Given the description of an element on the screen output the (x, y) to click on. 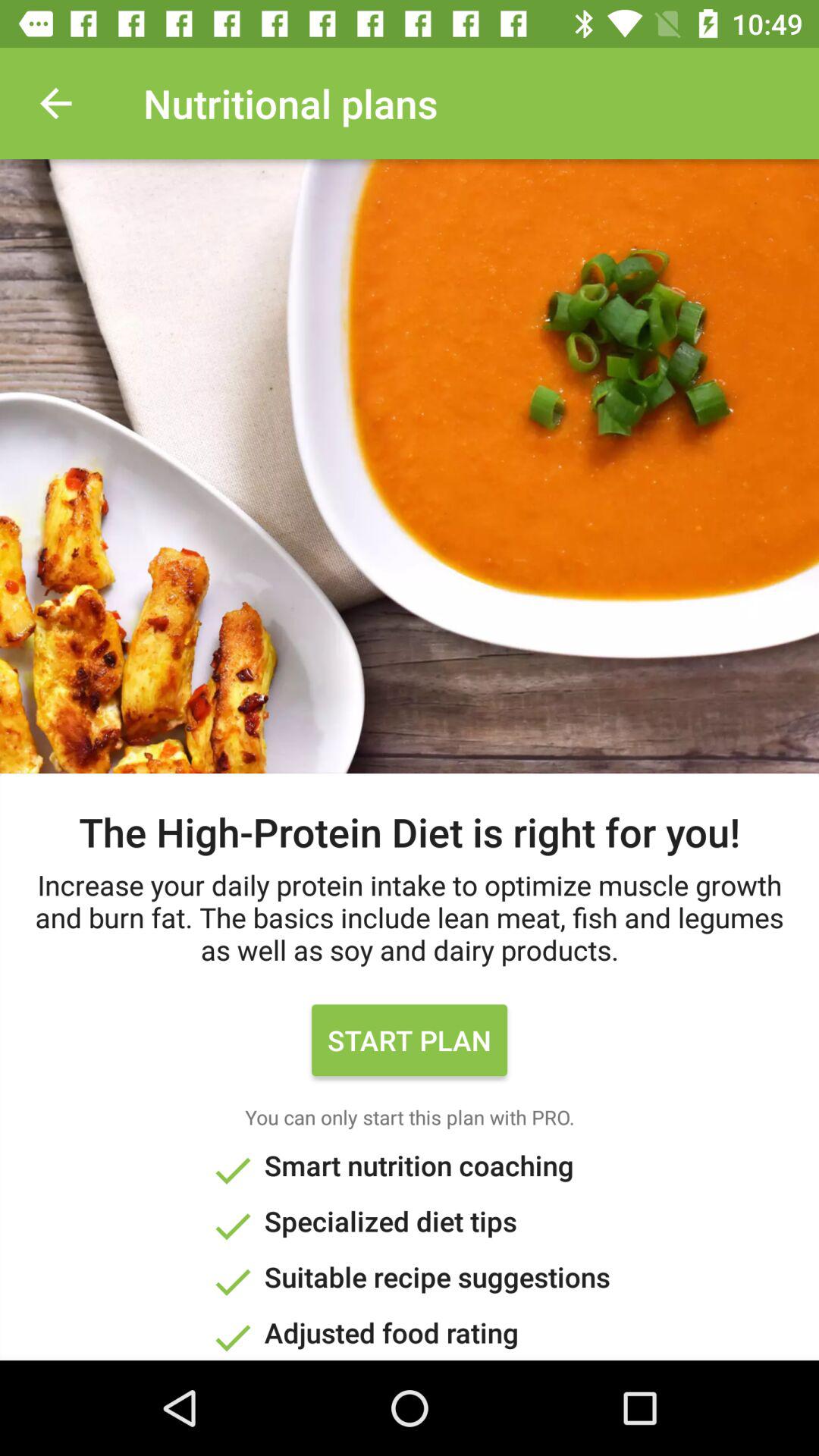
select the item at the top left corner (55, 103)
